Given the description of an element on the screen output the (x, y) to click on. 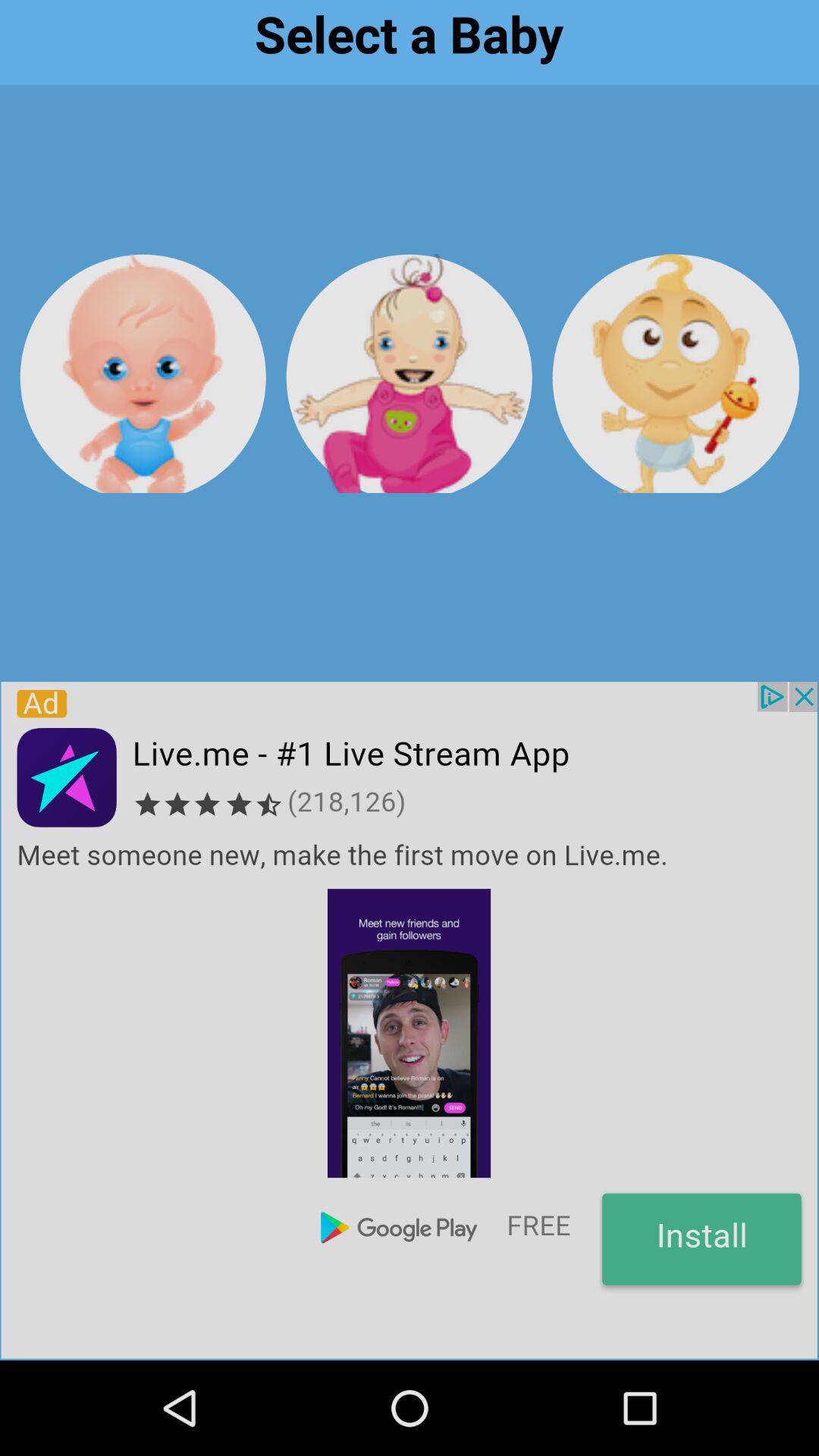
preview (409, 373)
